Given the description of an element on the screen output the (x, y) to click on. 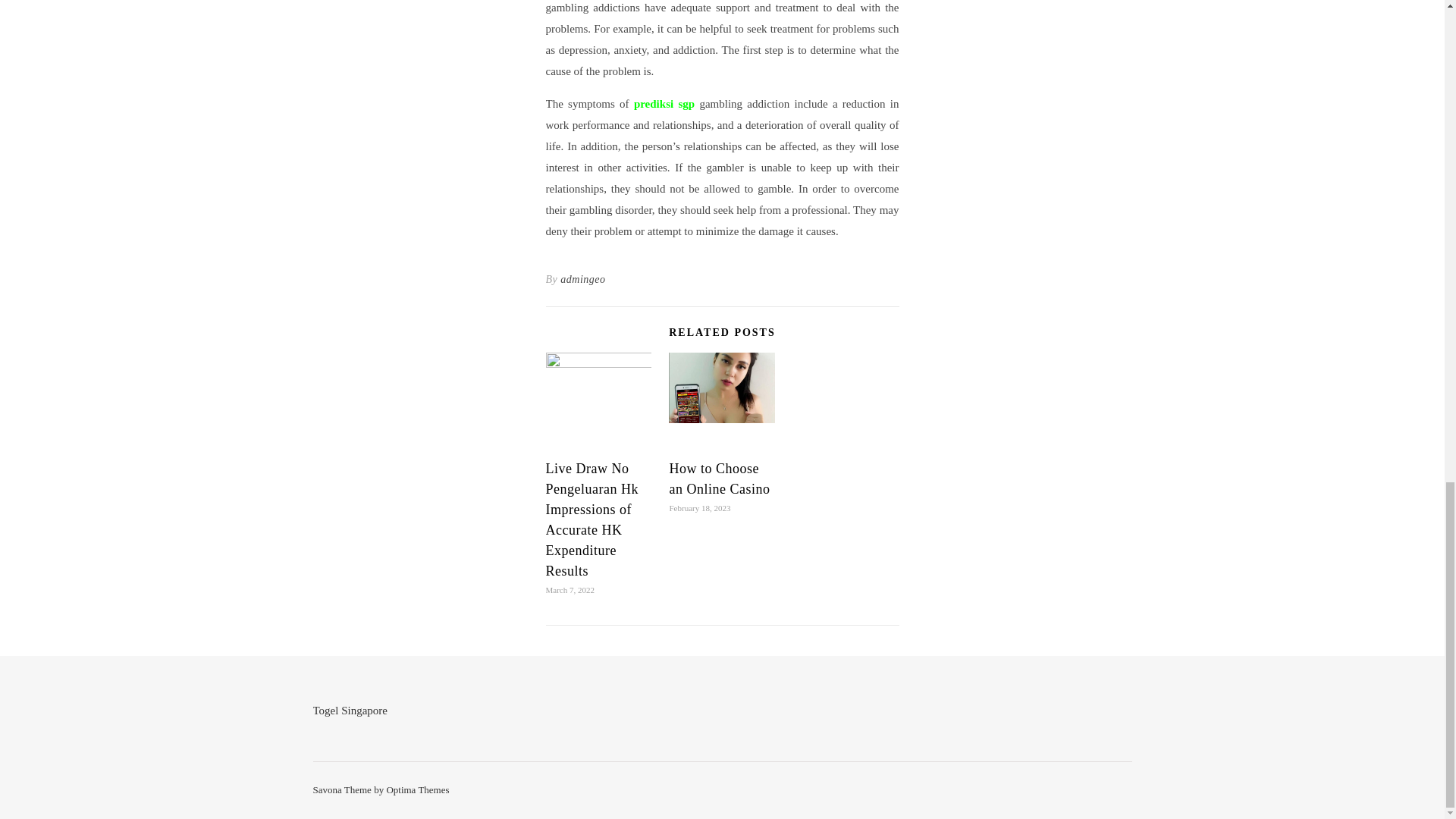
Posts by admingeo (582, 279)
